Given the description of an element on the screen output the (x, y) to click on. 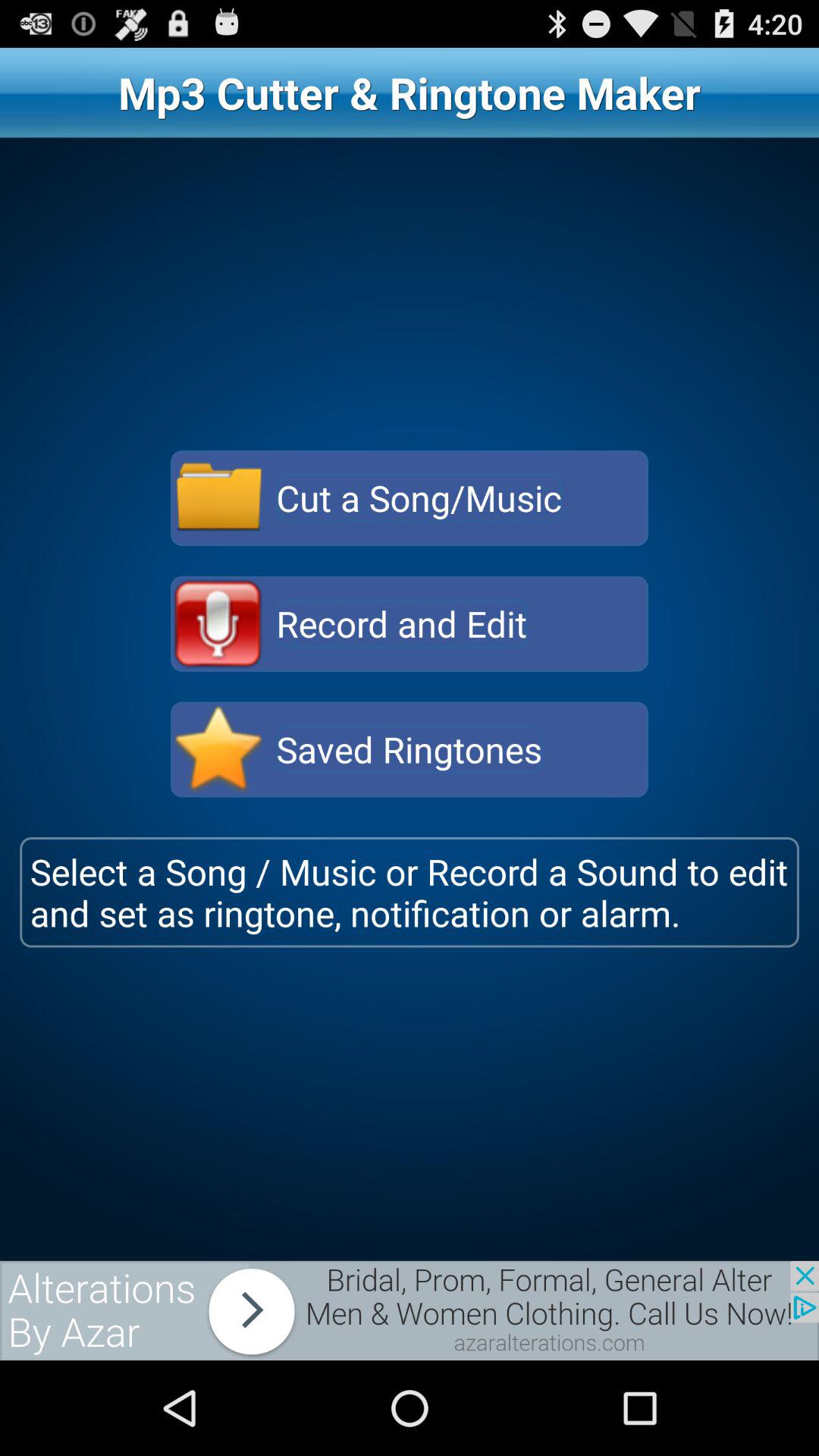
record the thing in question (218, 623)
